Given the description of an element on the screen output the (x, y) to click on. 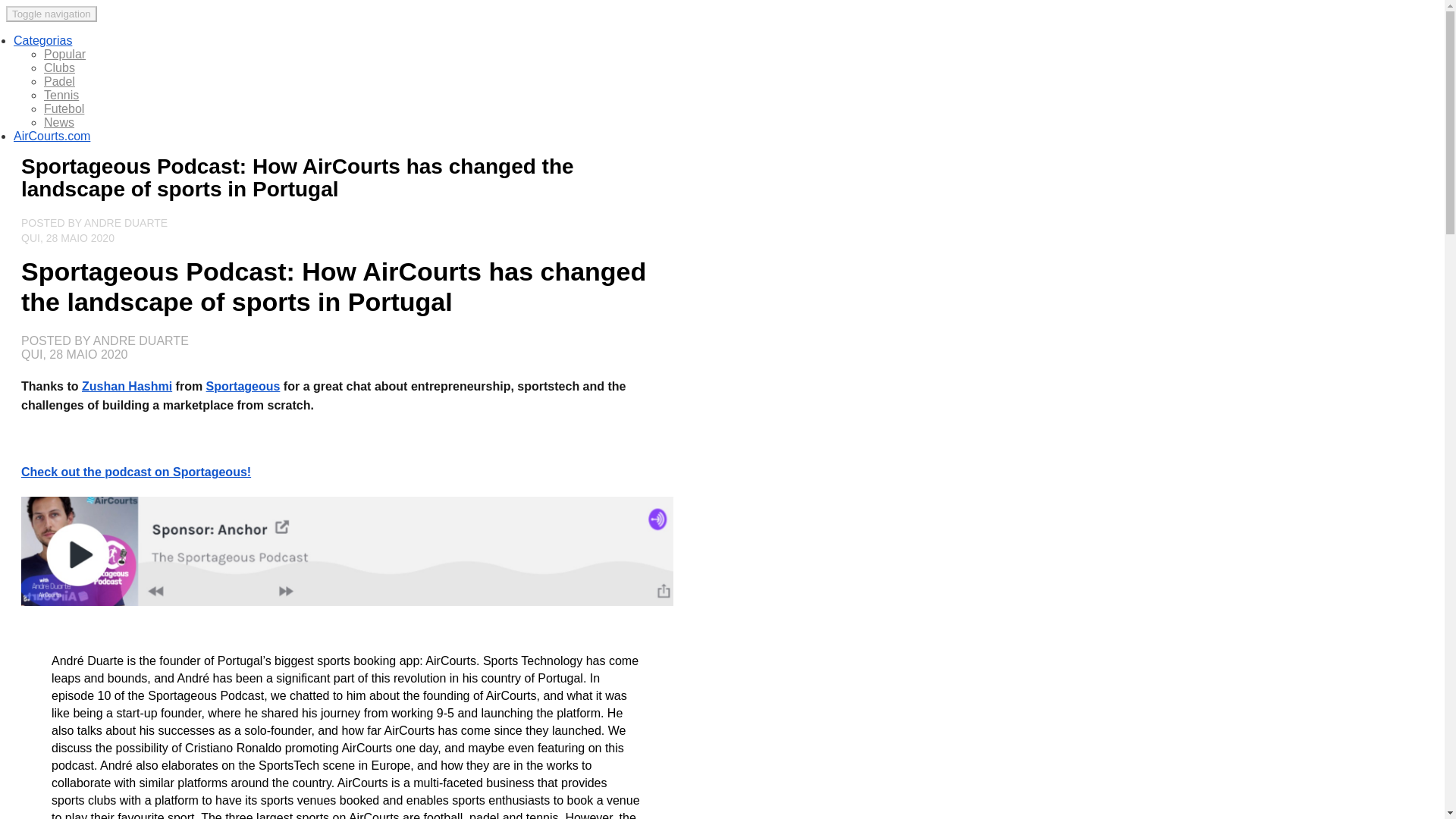
Categorias (42, 42)
News (58, 124)
Futebol (63, 110)
Check out the podcast on Sportageous! (135, 474)
Clubs (59, 69)
Sportageous (243, 388)
Tennis (60, 96)
Padel (59, 83)
Toggle navigation (51, 13)
AirCourts.com (51, 137)
Zushan Hashmi (126, 388)
Popular (64, 55)
